Given the description of an element on the screen output the (x, y) to click on. 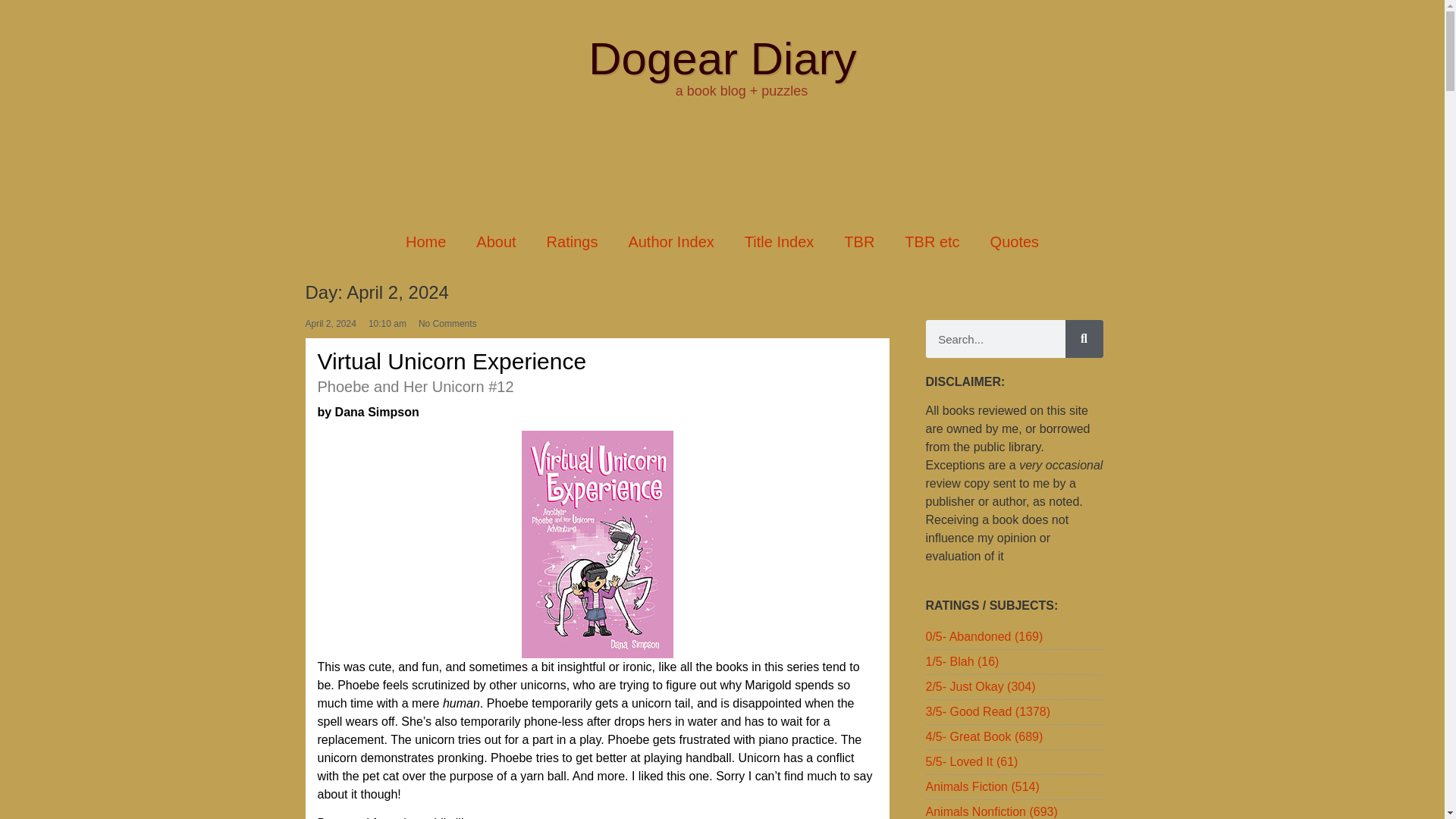
Virtual Unicorn Experience (451, 360)
TBR etc (931, 241)
Author Index (670, 241)
About (496, 241)
TBR (858, 241)
Title Index (779, 241)
April 2, 2024 (329, 323)
Ratings (571, 241)
Quotes (1014, 241)
Home (425, 241)
No Comments (448, 323)
